Given the description of an element on the screen output the (x, y) to click on. 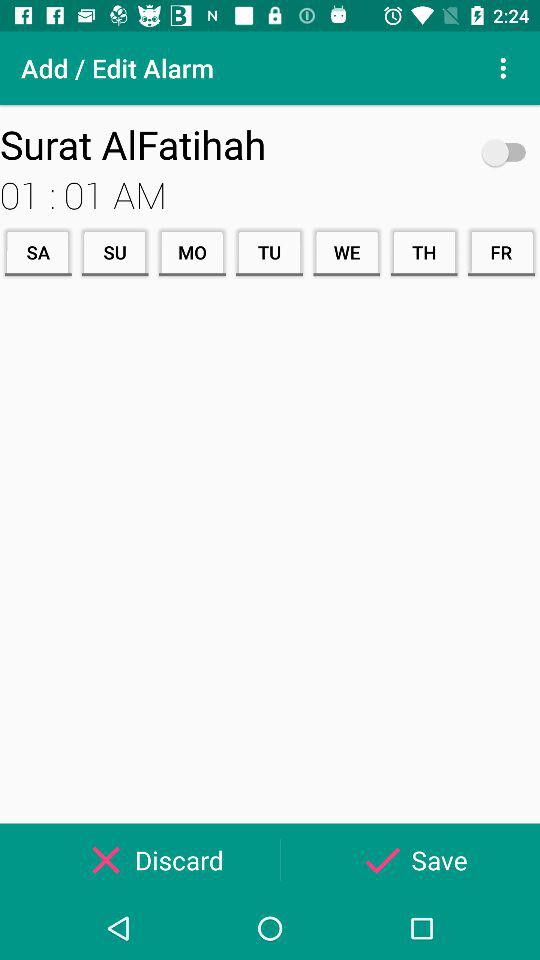
choose icon to the right of surat alfatihah item (508, 152)
